Given the description of an element on the screen output the (x, y) to click on. 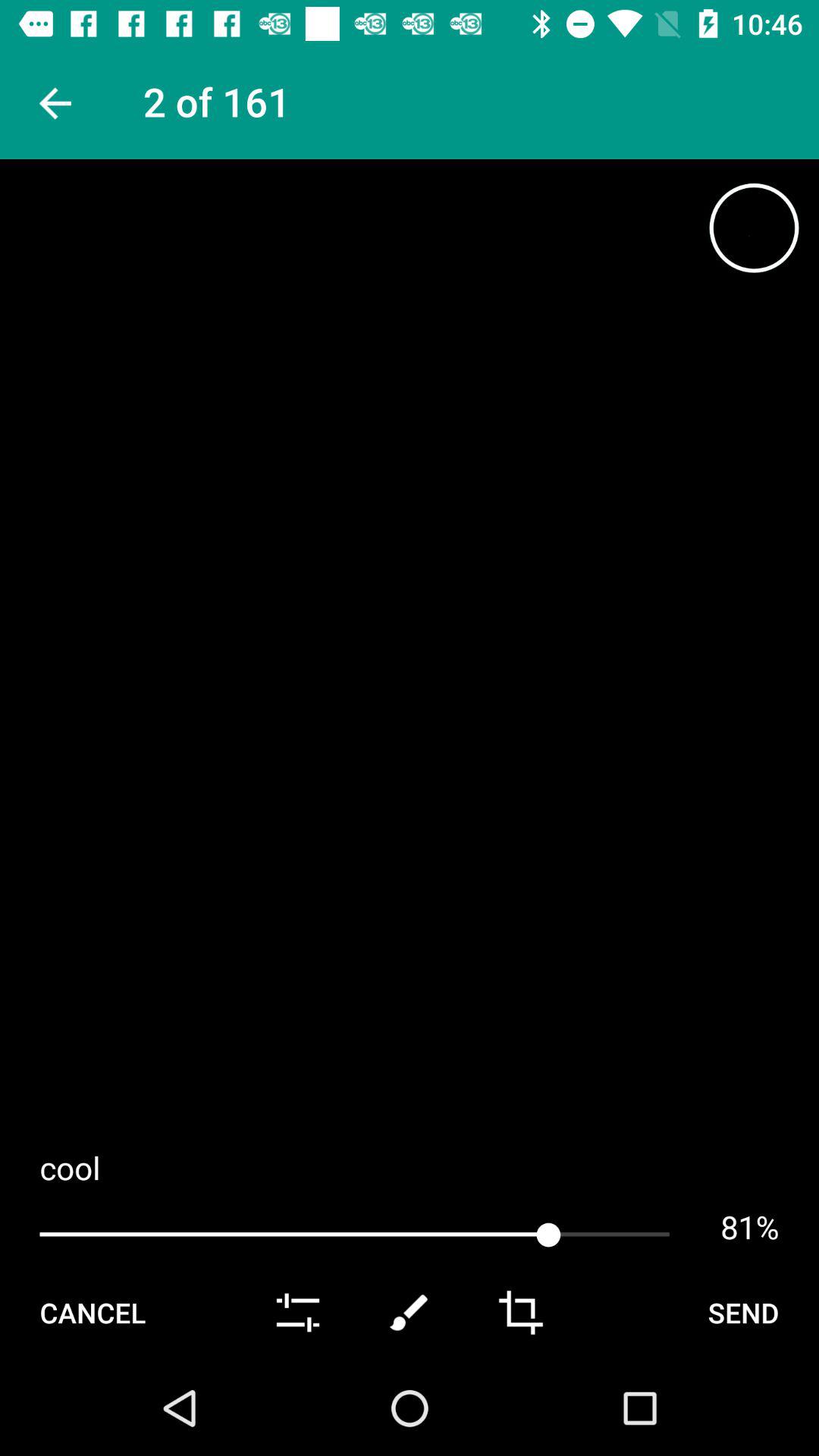
flip until the send app (743, 1312)
